Given the description of an element on the screen output the (x, y) to click on. 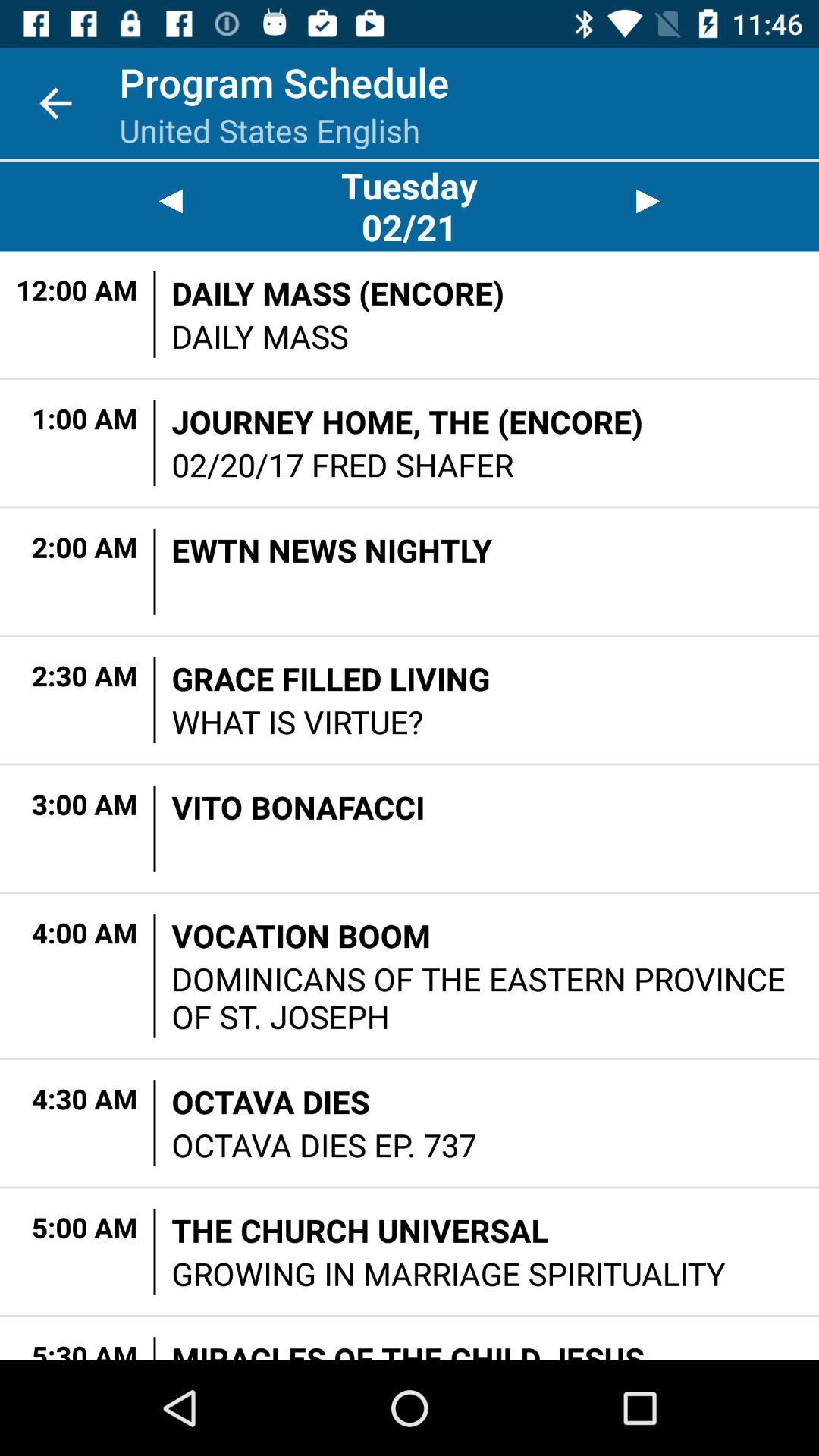
go back a day (170, 201)
